Given the description of an element on the screen output the (x, y) to click on. 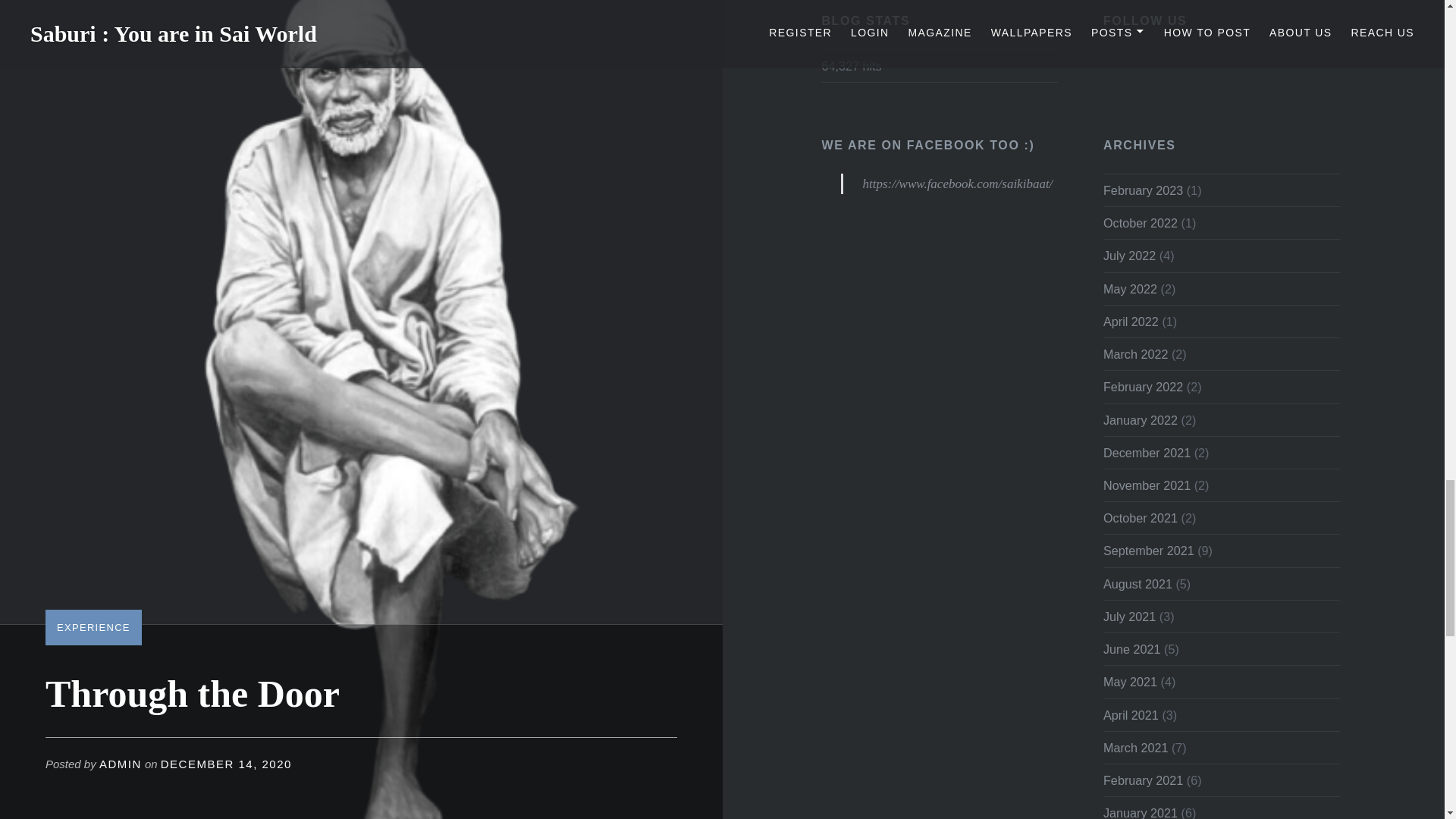
February 2023 (1142, 190)
July 2022 (1129, 255)
Instagram (1142, 61)
May 2022 (1130, 288)
Twitter (1114, 61)
April 2022 (1130, 321)
March 2022 (1135, 354)
October 2022 (1140, 223)
February 2022 (1142, 386)
Facebook (1170, 61)
